Given the description of an element on the screen output the (x, y) to click on. 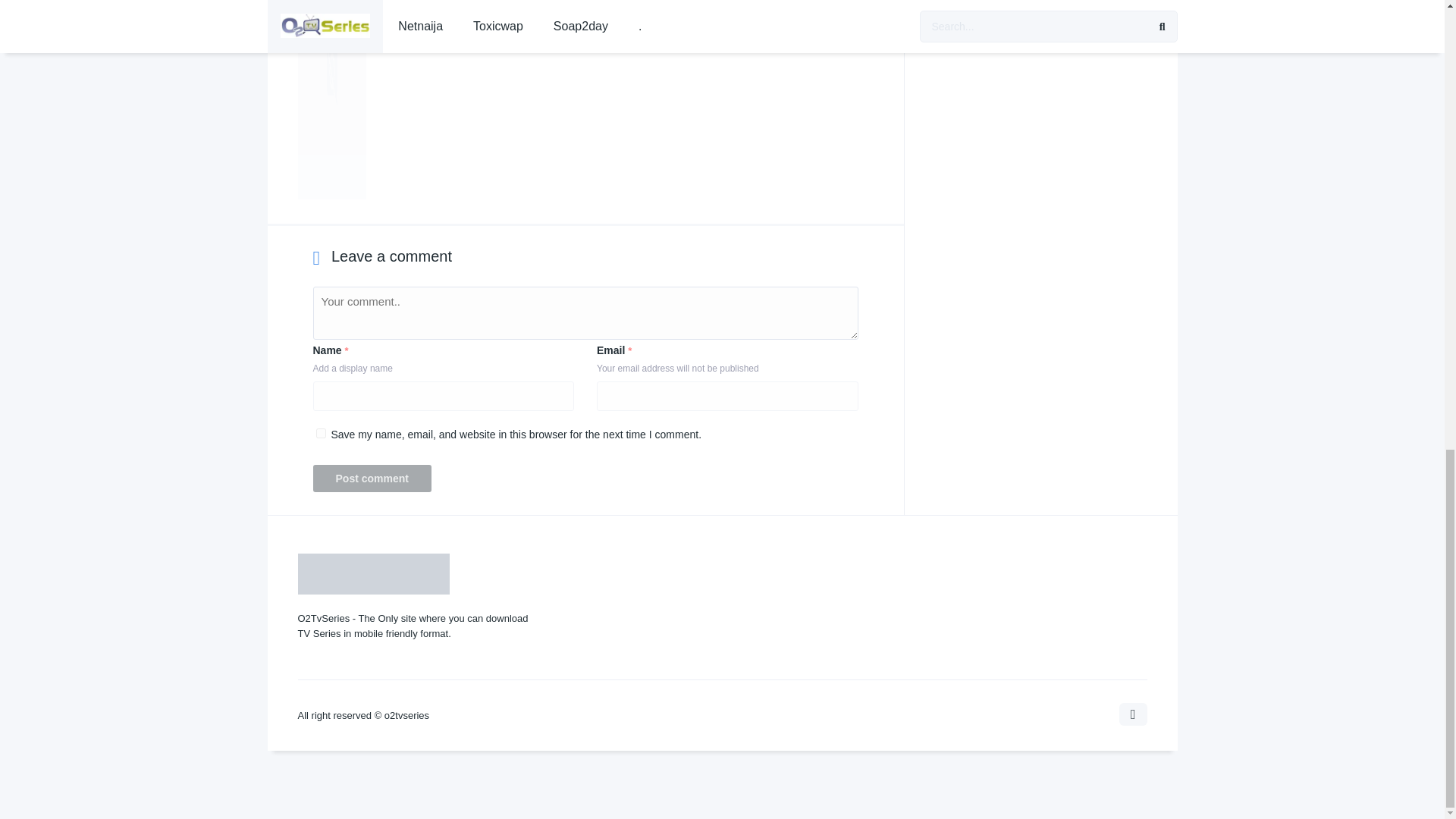
Post comment (371, 478)
Post comment (371, 478)
yes (319, 433)
